Given the description of an element on the screen output the (x, y) to click on. 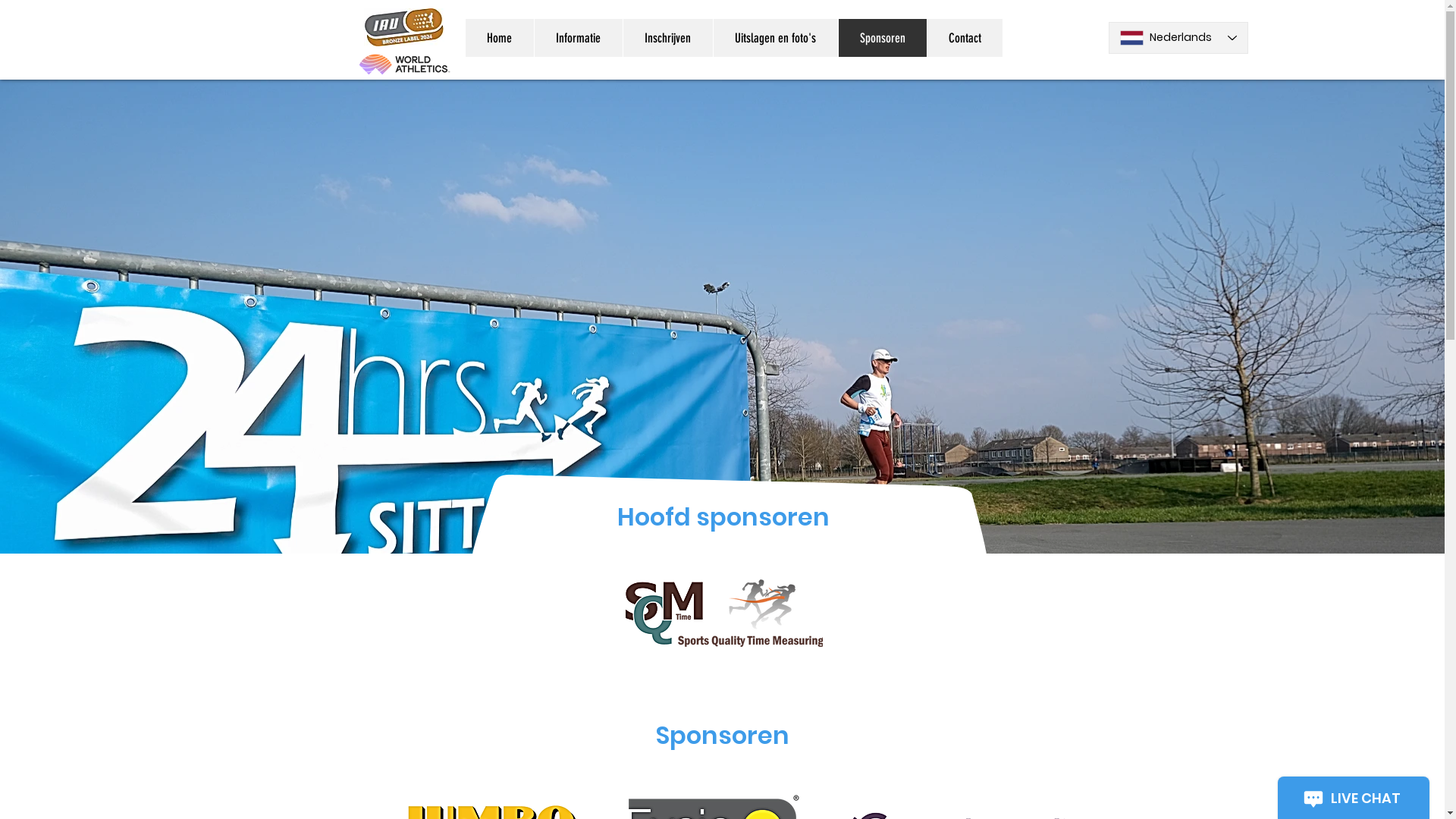
Uitslagen en foto's Element type: text (774, 37)
Contact Element type: text (964, 37)
Sponsoren Element type: text (881, 37)
Home Element type: text (499, 37)
Informatie Element type: text (577, 37)
Inschrijven Element type: text (666, 37)
